Given the description of an element on the screen output the (x, y) to click on. 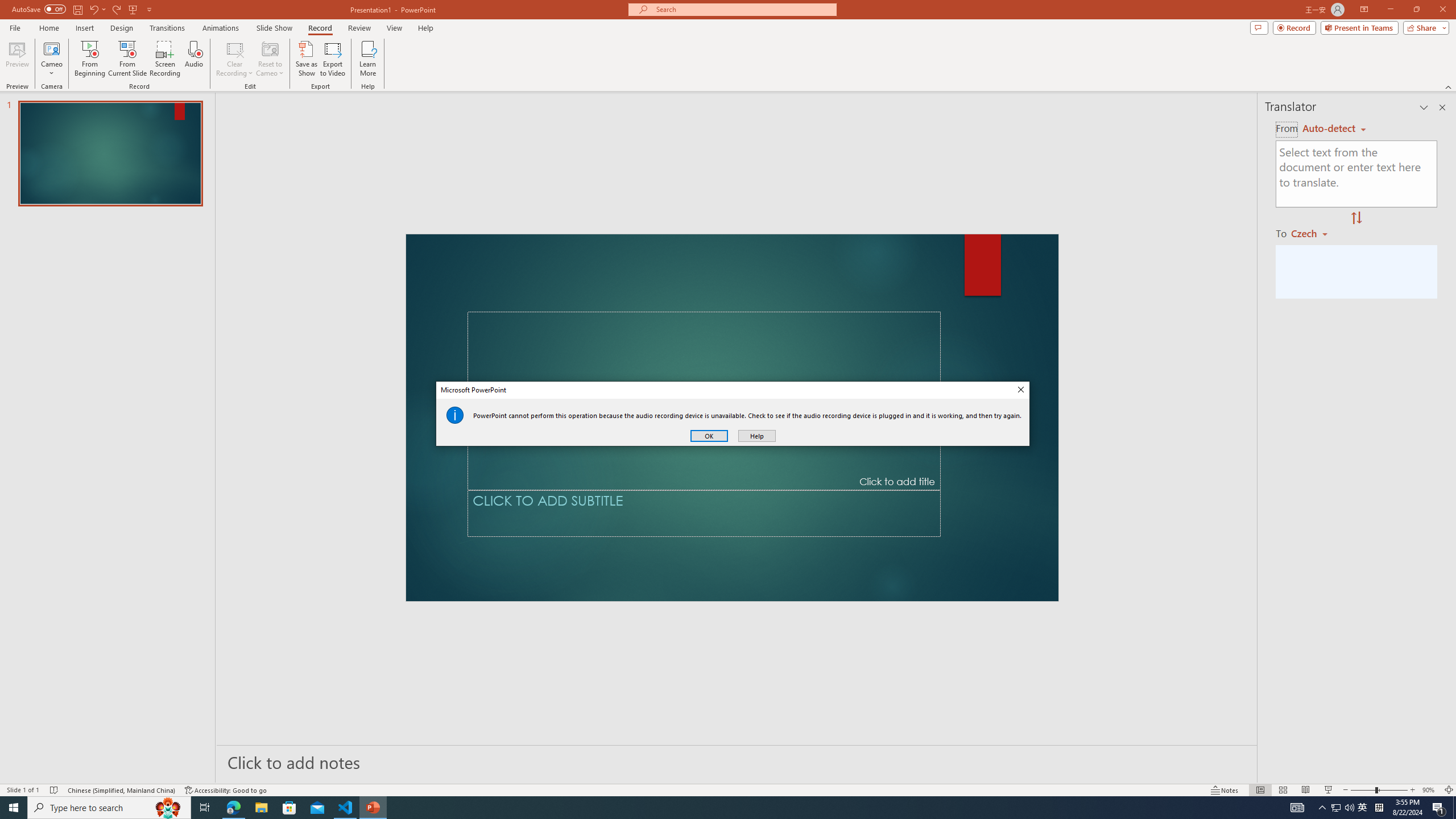
Save as Show (306, 58)
